Given the description of an element on the screen output the (x, y) to click on. 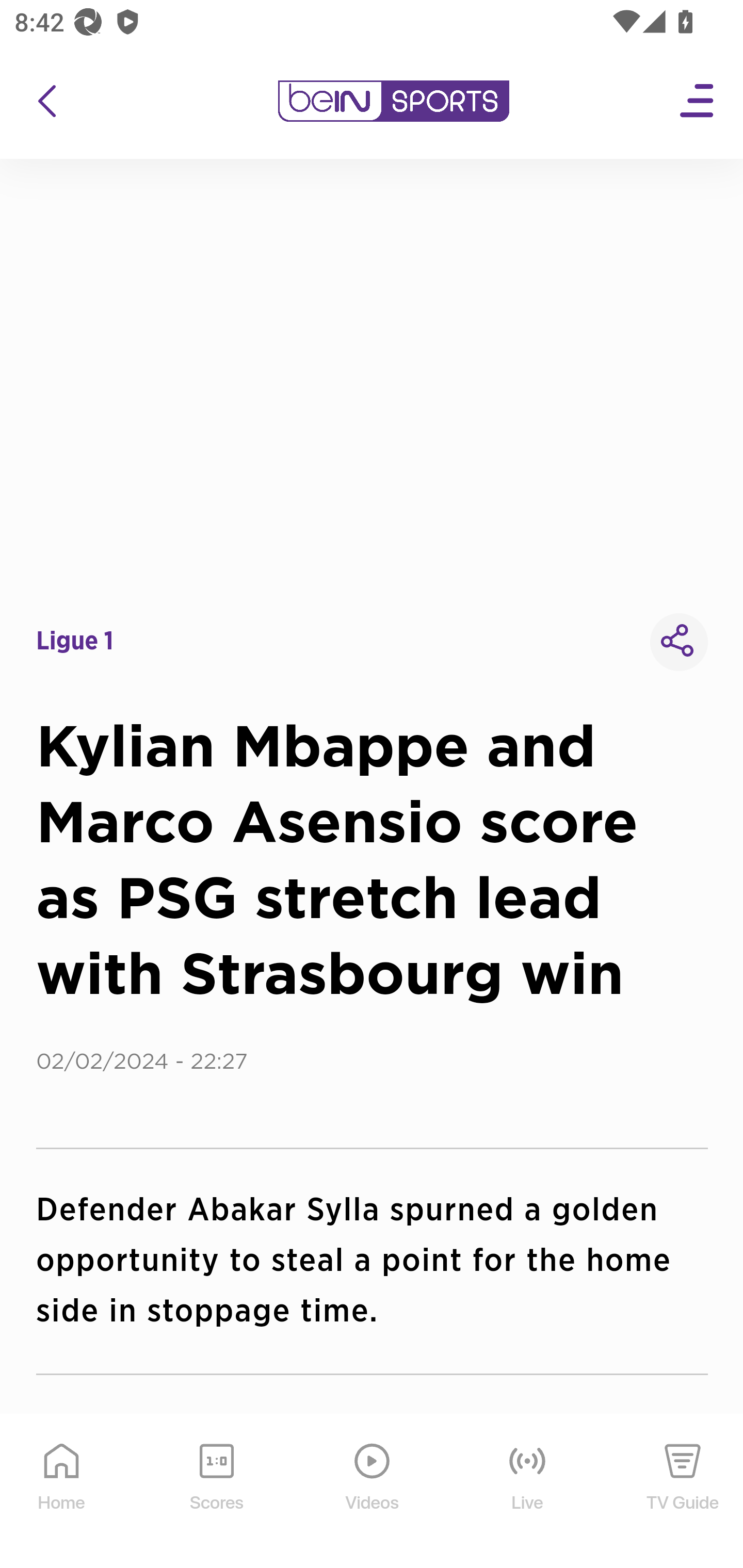
en-my?platform=mobile_android bein logo (392, 101)
icon back (46, 101)
Open Menu Icon (697, 101)
Home Home Icon Home (61, 1491)
Scores Scores Icon Scores (216, 1491)
Videos Videos Icon Videos (372, 1491)
TV Guide TV Guide Icon TV Guide (682, 1491)
